Given the description of an element on the screen output the (x, y) to click on. 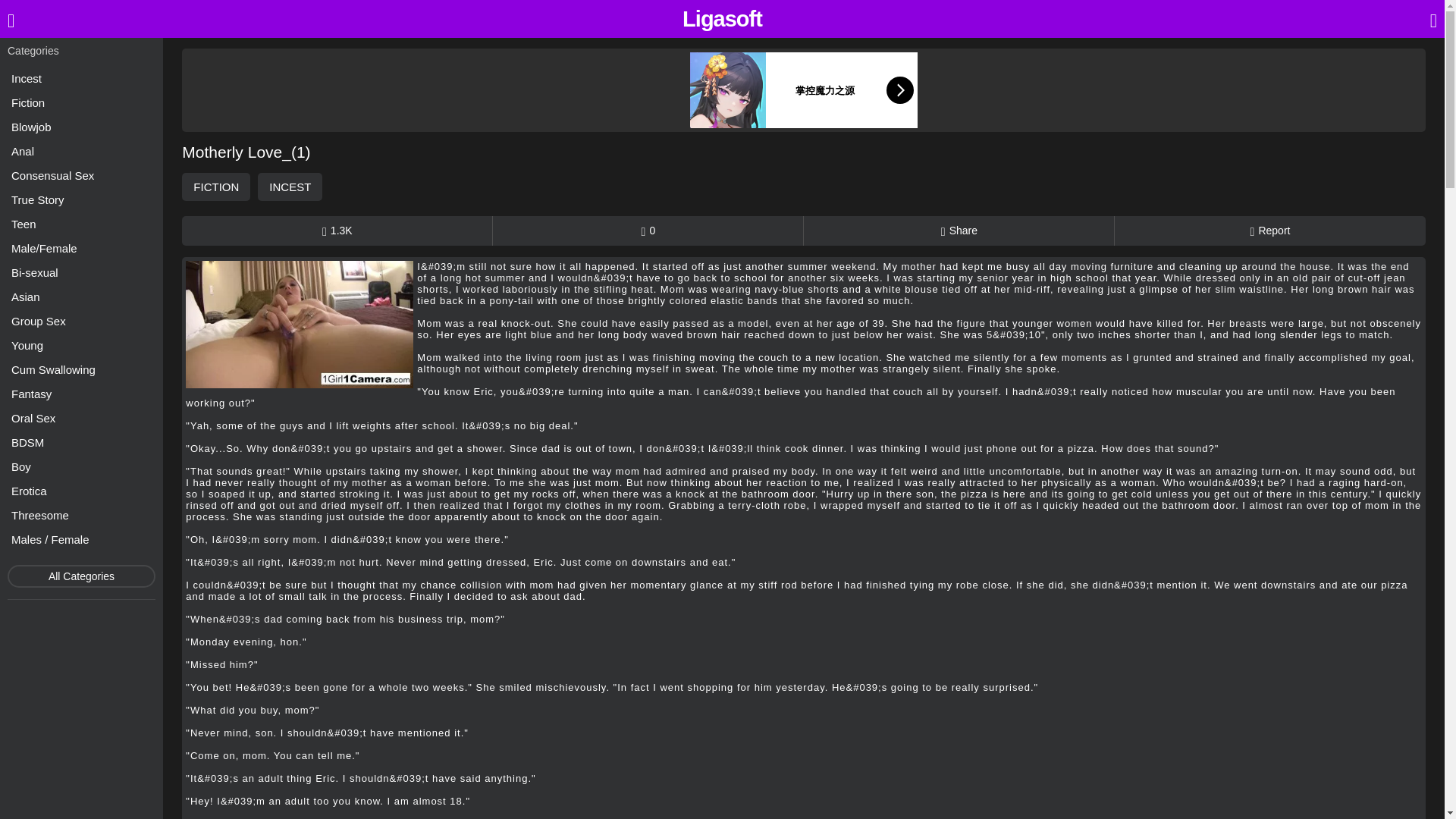
Asian (81, 296)
BDSM (81, 442)
Fantasy (81, 394)
Fiction (81, 102)
Teen (81, 223)
Ligasoft (721, 18)
Threesome (81, 515)
BDSM (81, 442)
Anal (81, 150)
Cum Swallowing (81, 369)
Fiction (81, 102)
Anal (81, 150)
Bi-sexual (81, 272)
Blowjob (81, 127)
Young (81, 344)
